Given the description of an element on the screen output the (x, y) to click on. 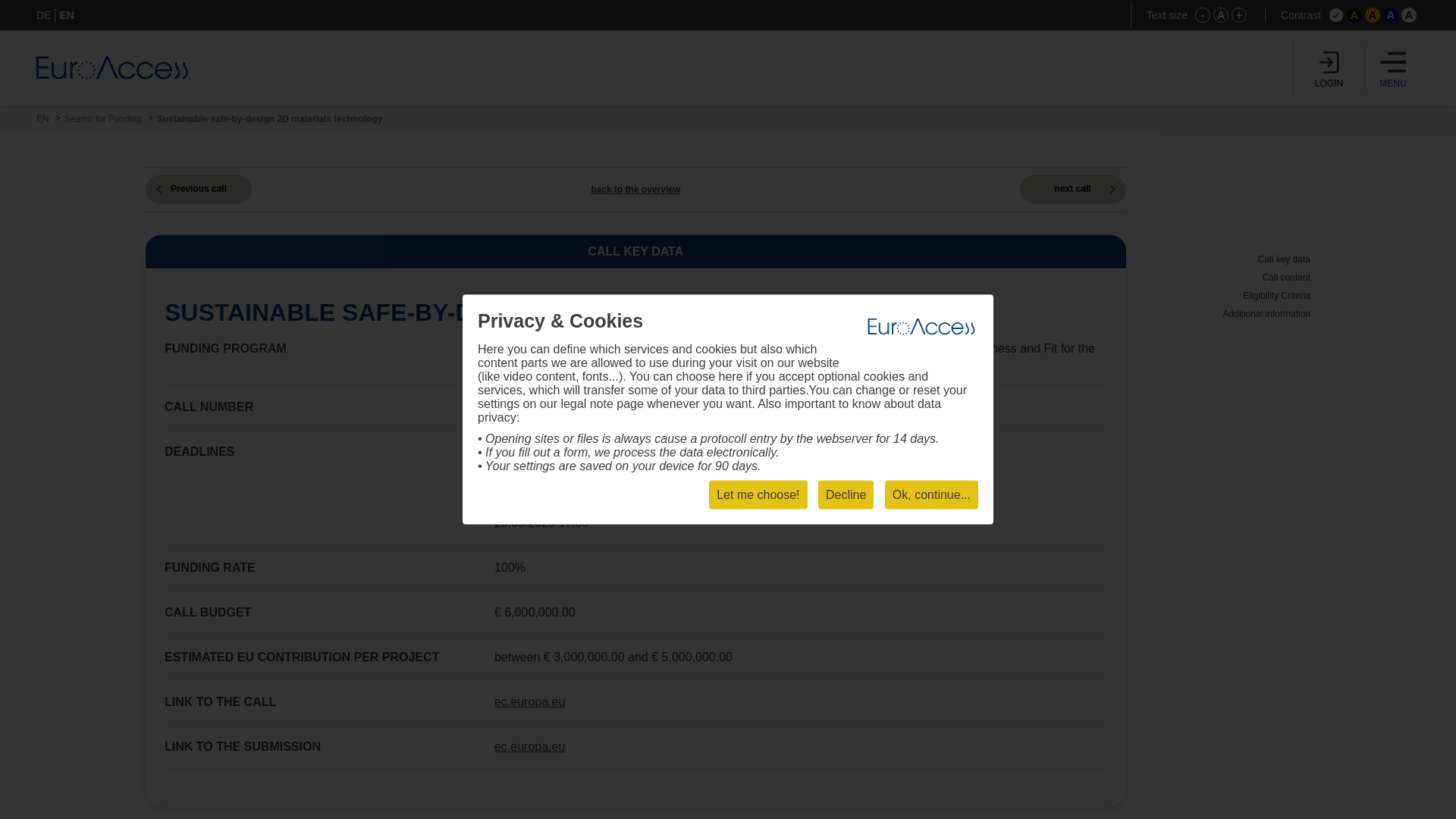
A (1220, 14)
EN (66, 15)
Yellow on black (1353, 14)
MENU (1393, 68)
A (1372, 14)
White on blue (1390, 14)
A (1390, 14)
Search for Funding (102, 118)
Zur Startseite (111, 67)
DE (43, 15)
Blue on white (1408, 14)
Search for Funding (102, 118)
EN (42, 118)
Black on yellow (1372, 14)
A (1408, 14)
